Given the description of an element on the screen output the (x, y) to click on. 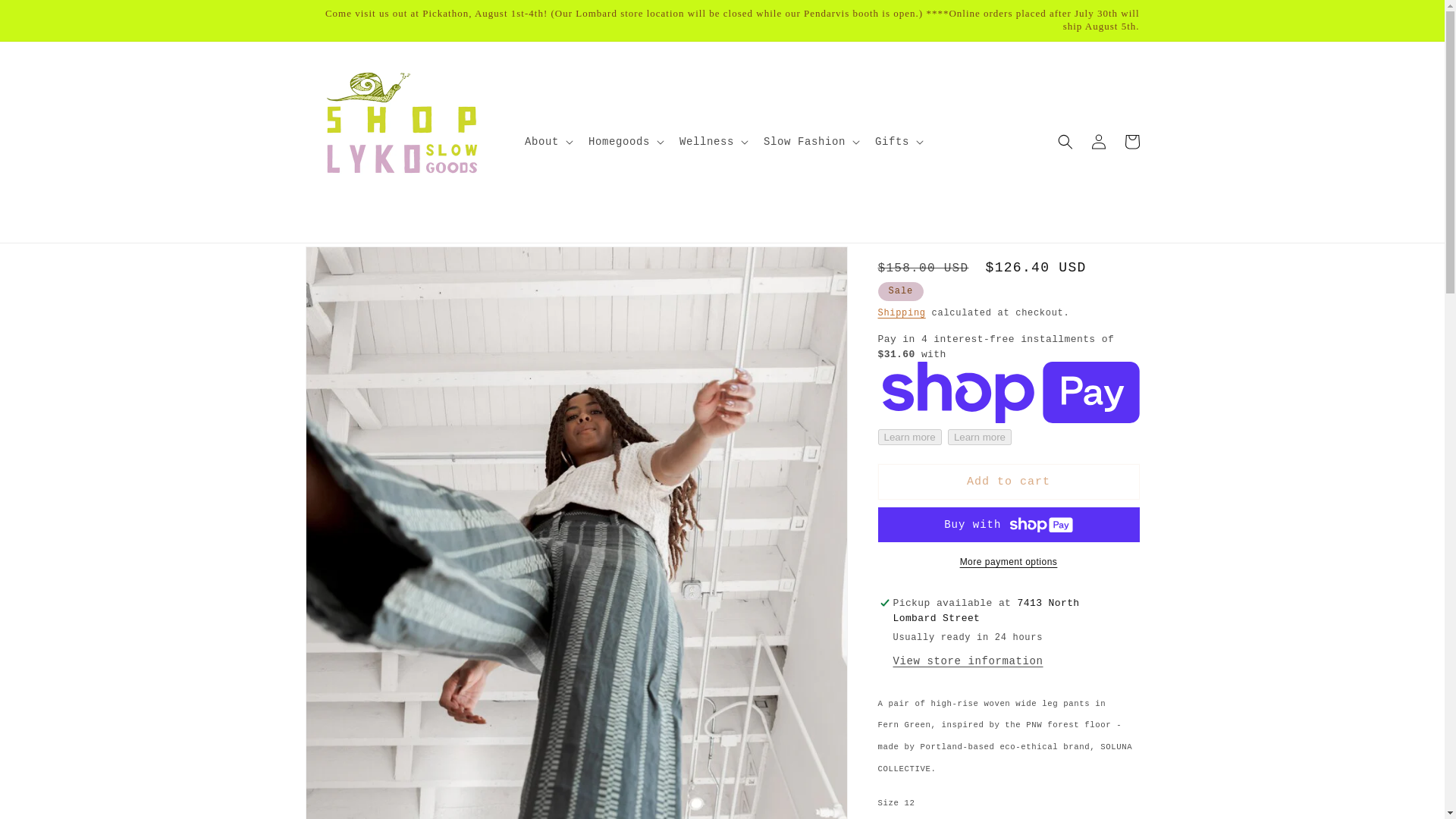
Skip to content (45, 17)
